Given the description of an element on the screen output the (x, y) to click on. 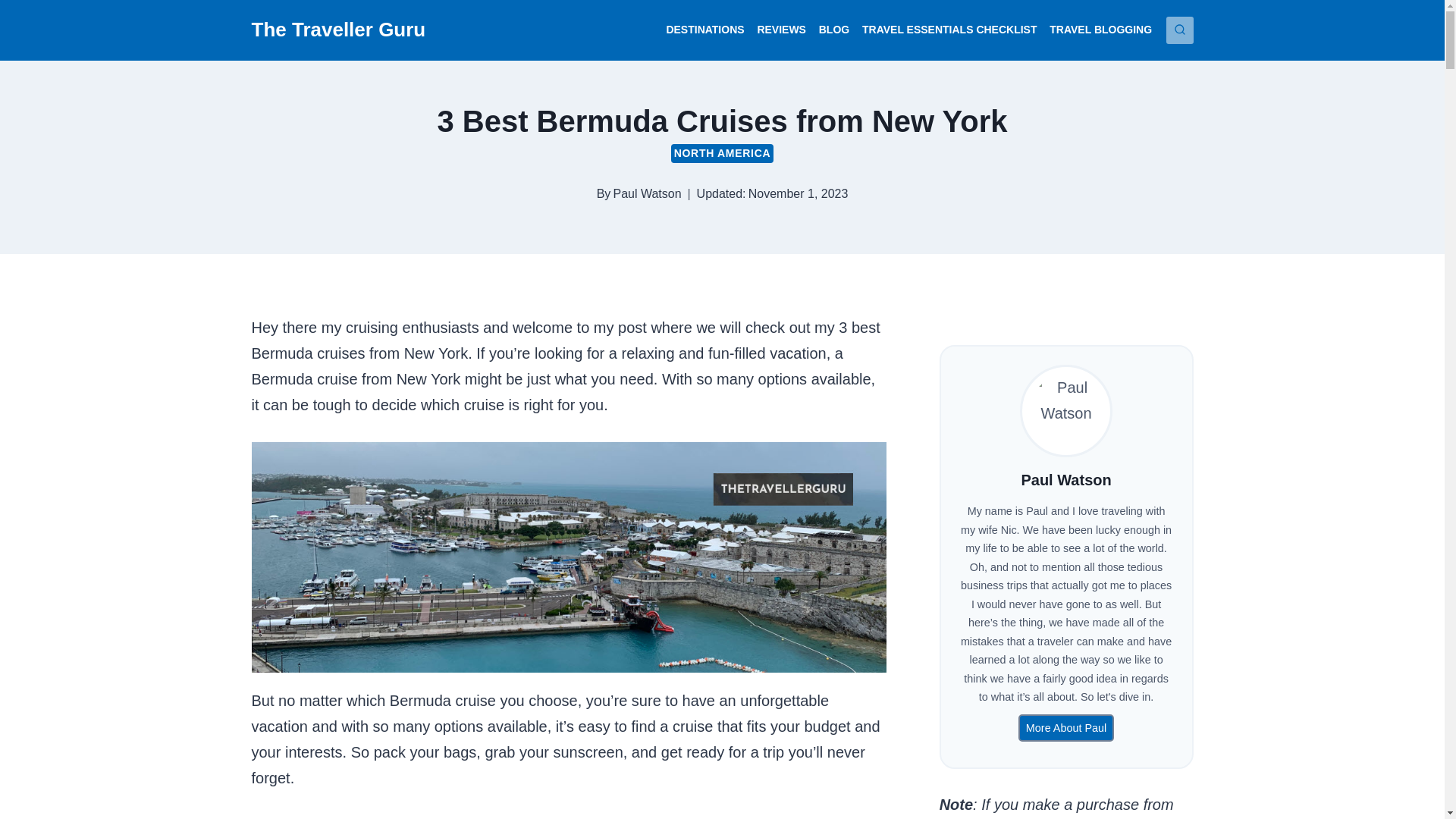
TRAVEL BLOGGING (1100, 30)
REVIEWS (781, 30)
BLOG (834, 30)
The Traveller Guru (338, 29)
Paul Watson (646, 193)
NORTH AMERICA (722, 153)
DESTINATIONS (705, 30)
TRAVEL ESSENTIALS CHECKLIST (949, 30)
